Given the description of an element on the screen output the (x, y) to click on. 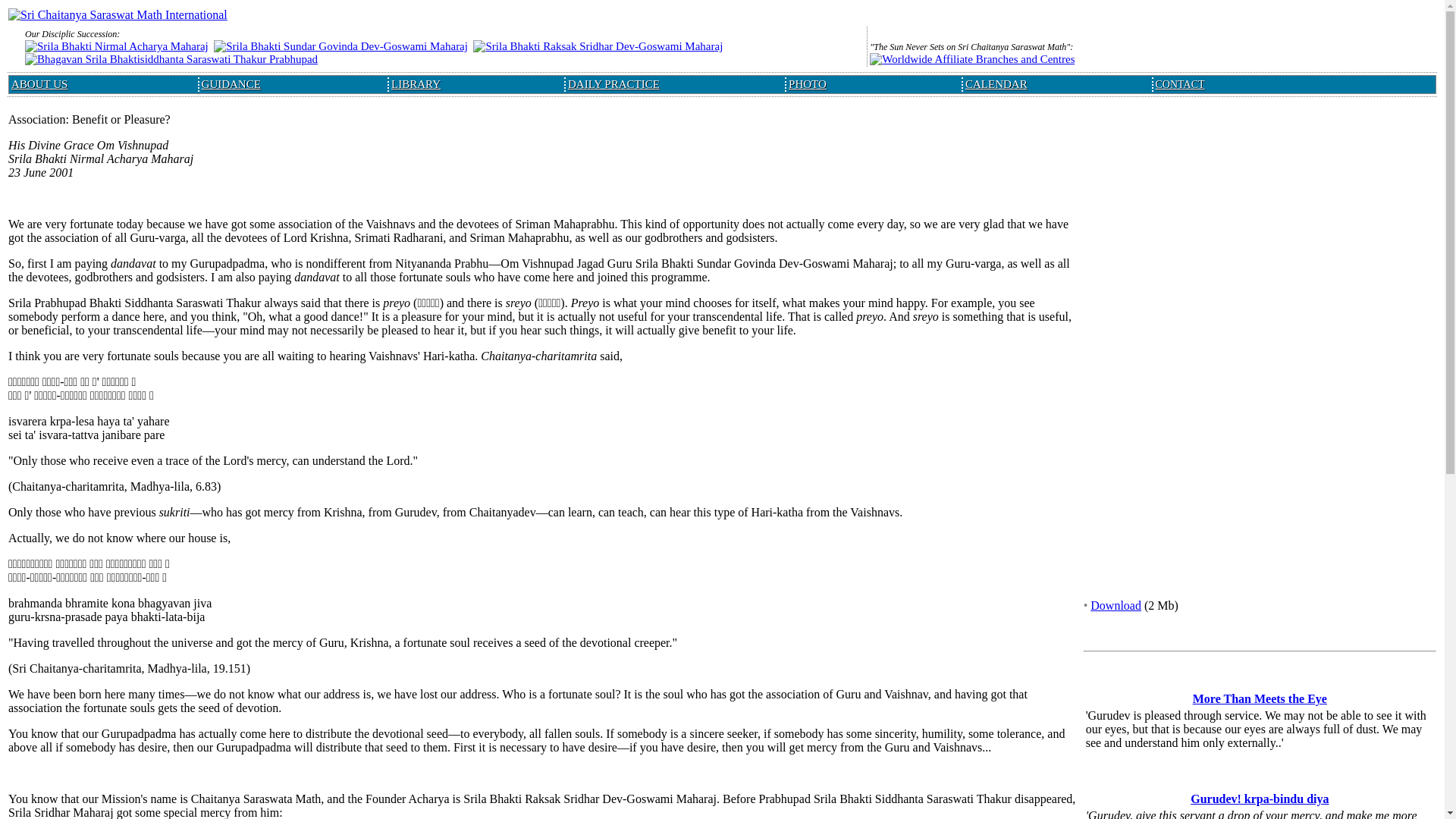
ABOUT US (38, 83)
Download (1115, 604)
Gurudev! krpa-bindu diya (1259, 798)
PHOTO (808, 83)
More Than Meets the Eye (1259, 698)
DAILY PRACTICE (613, 83)
CONTACT (1180, 84)
CALENDAR (996, 83)
GUIDANCE (231, 83)
LIBRARY (416, 83)
